Given the description of an element on the screen output the (x, y) to click on. 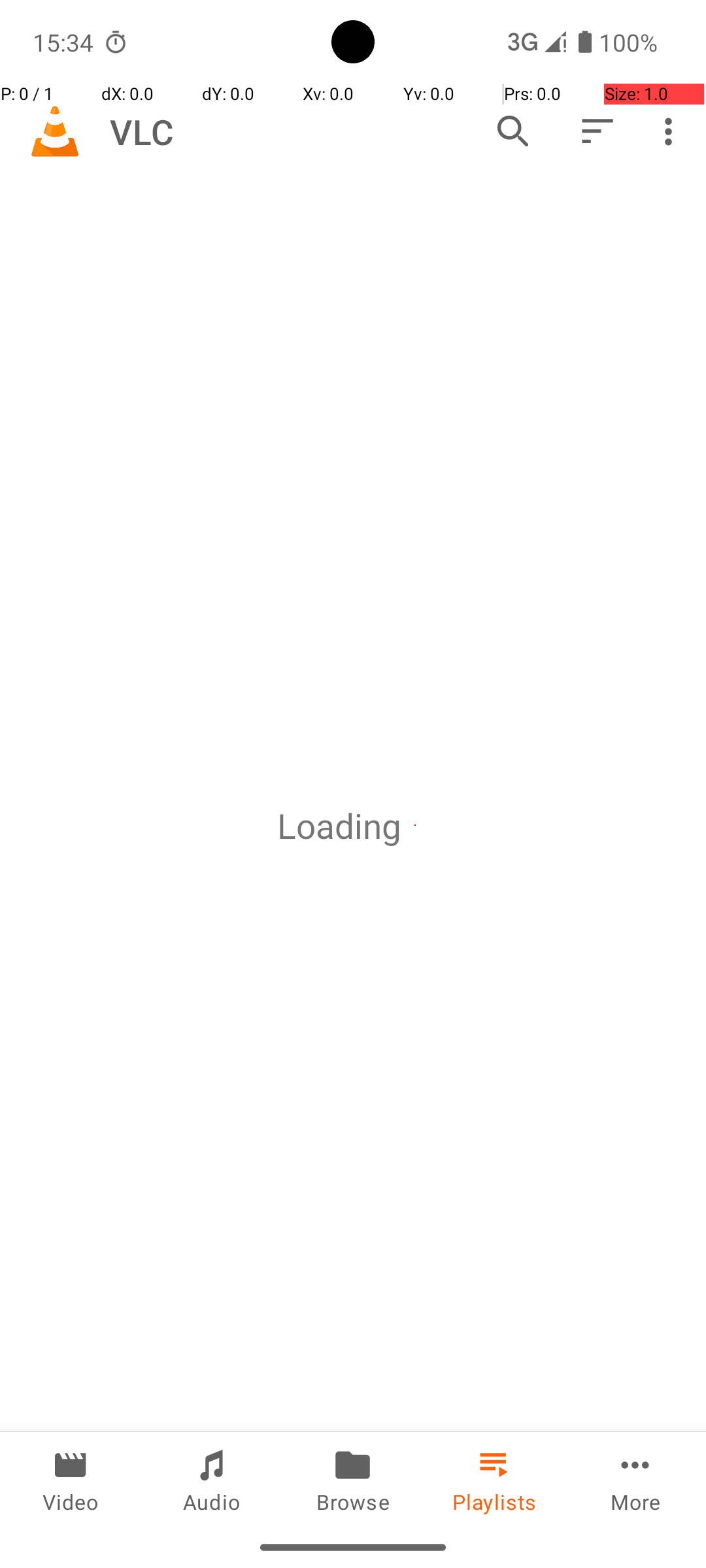
Sort by… Element type: android.widget.TextView (595, 131)
Loading Element type: android.widget.TextView (339, 825)
Video Element type: android.widget.FrameLayout (70, 1478)
Browse Element type: android.widget.FrameLayout (352, 1478)
